Given the description of an element on the screen output the (x, y) to click on. 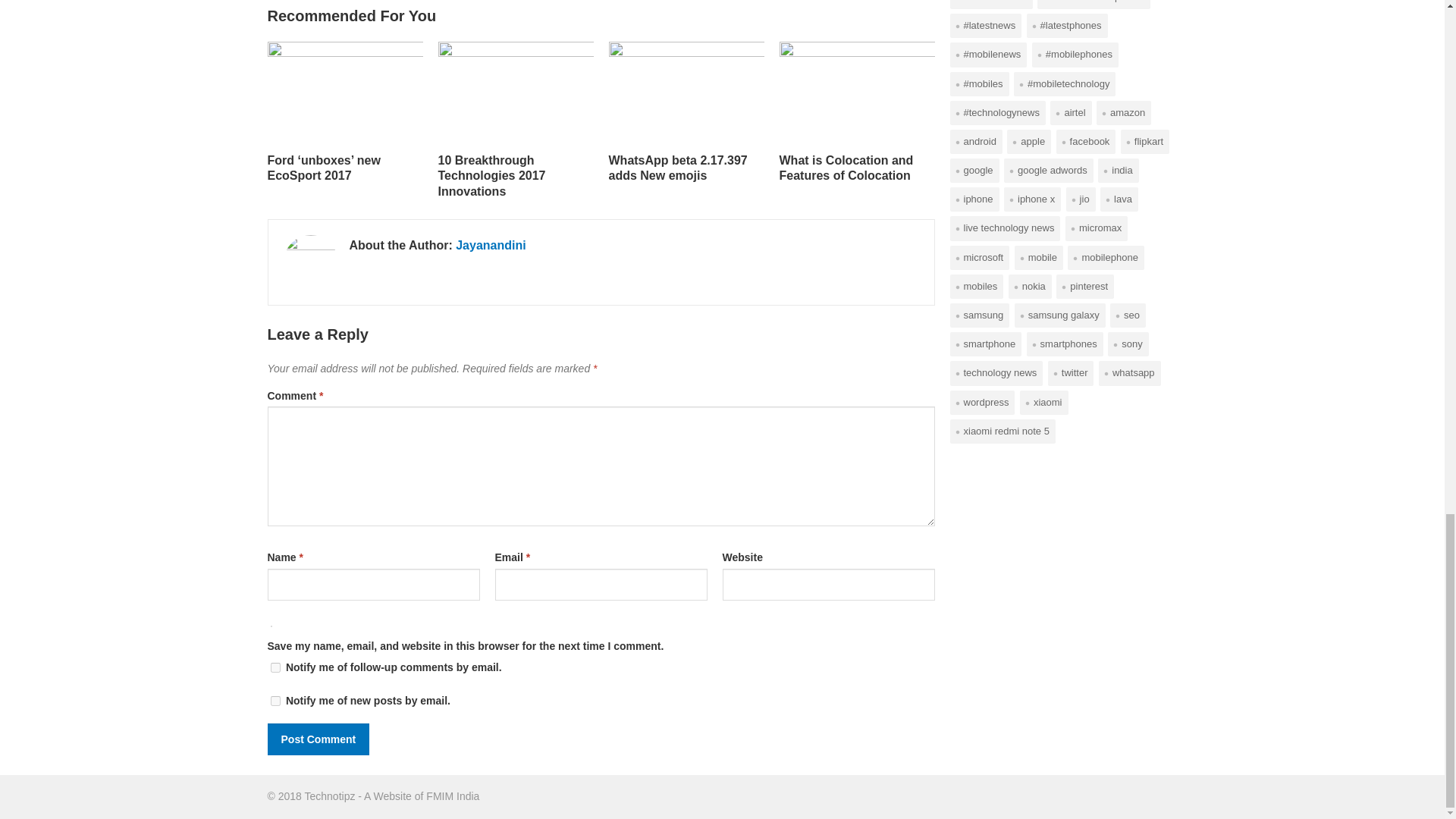
subscribe (274, 667)
Post Comment (317, 739)
subscribe (274, 700)
